Given the description of an element on the screen output the (x, y) to click on. 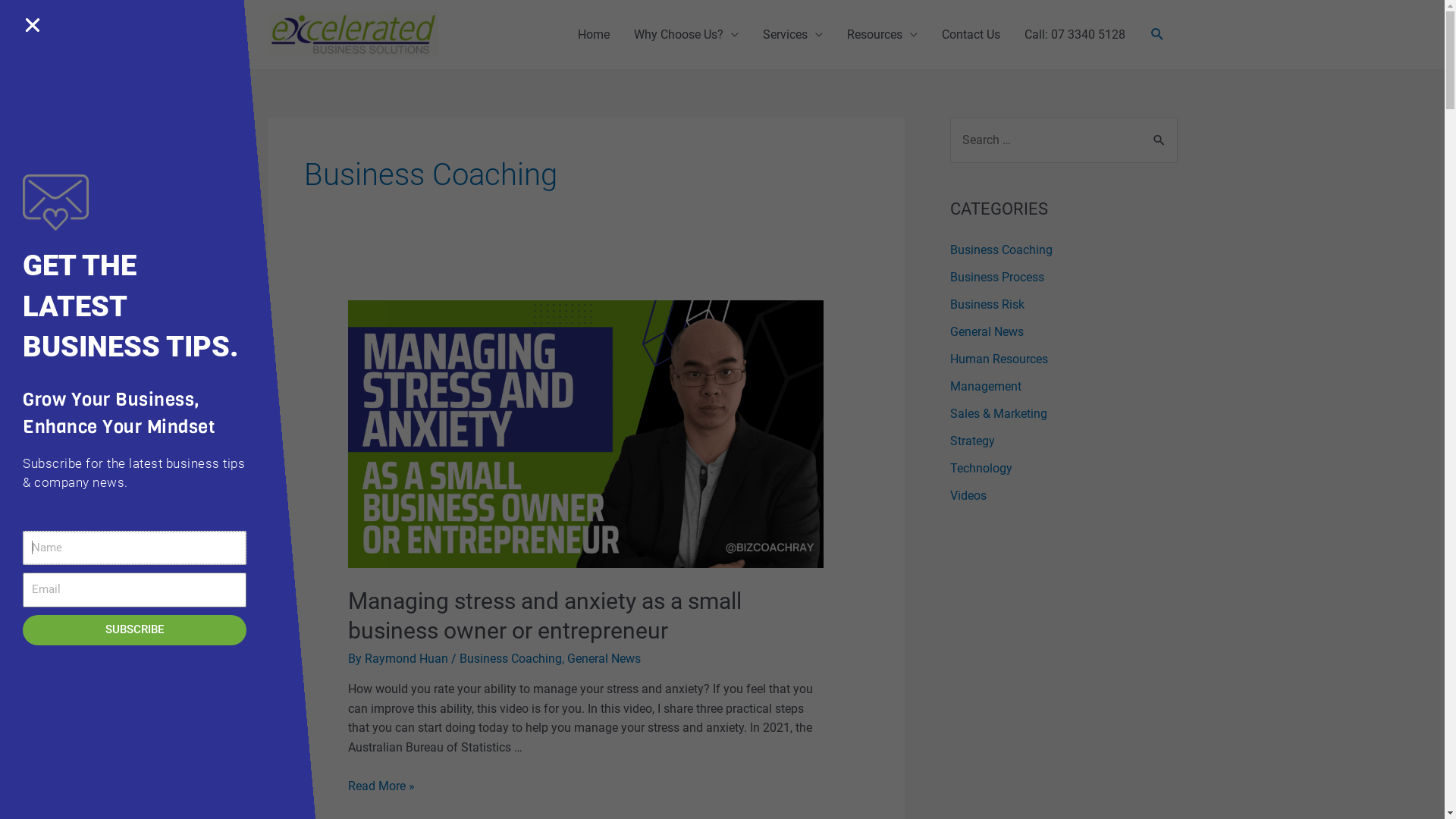
General News Element type: text (985, 331)
Why Choose Us? Element type: text (685, 34)
Videos Element type: text (967, 495)
Resources Element type: text (881, 34)
Services Element type: text (792, 34)
Search Element type: text (17, 15)
Sales & Marketing Element type: text (997, 413)
Contact Us Element type: text (970, 34)
Business Coaching Element type: text (510, 658)
SUBSCRIBE Element type: text (134, 629)
Strategy Element type: text (971, 440)
Technology Element type: text (980, 468)
Call: 07 3340 5128 Element type: text (1073, 34)
Home Element type: text (593, 34)
Business Coaching Element type: text (1000, 249)
Raymond Huan Element type: text (407, 658)
Business Process Element type: text (996, 276)
Business Risk Element type: text (986, 304)
Management Element type: text (984, 386)
General News Element type: text (603, 658)
Human Resources Element type: text (998, 358)
